Given the description of an element on the screen output the (x, y) to click on. 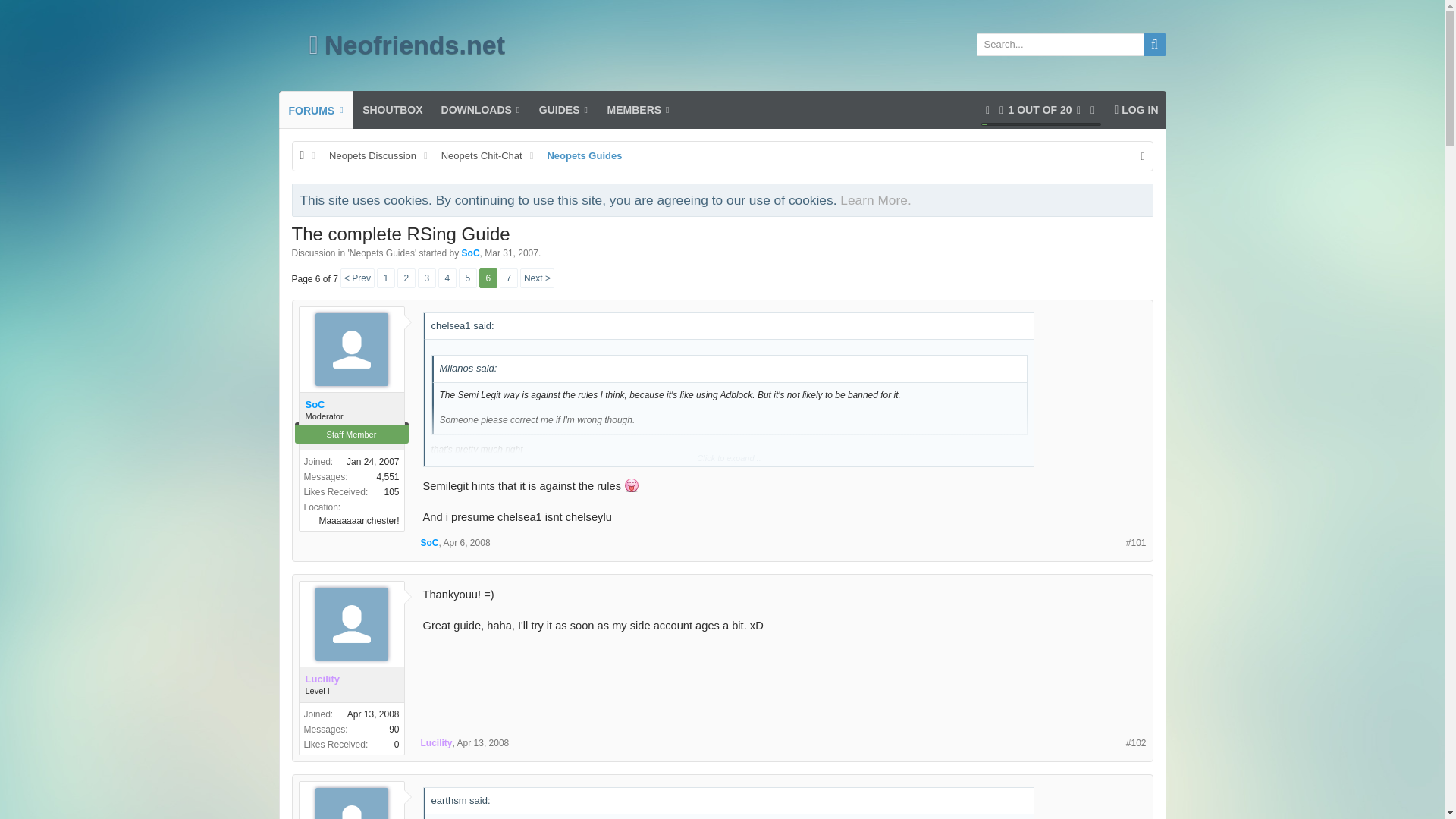
Mar 31, 2007 at 5:47 PM (511, 253)
Enter your search and hit enter (1071, 44)
Permalink (467, 542)
Permalink (1136, 542)
Stick Out Tongue    :p (631, 485)
Permalink (1136, 743)
Permalink (483, 742)
